Given the description of an element on the screen output the (x, y) to click on. 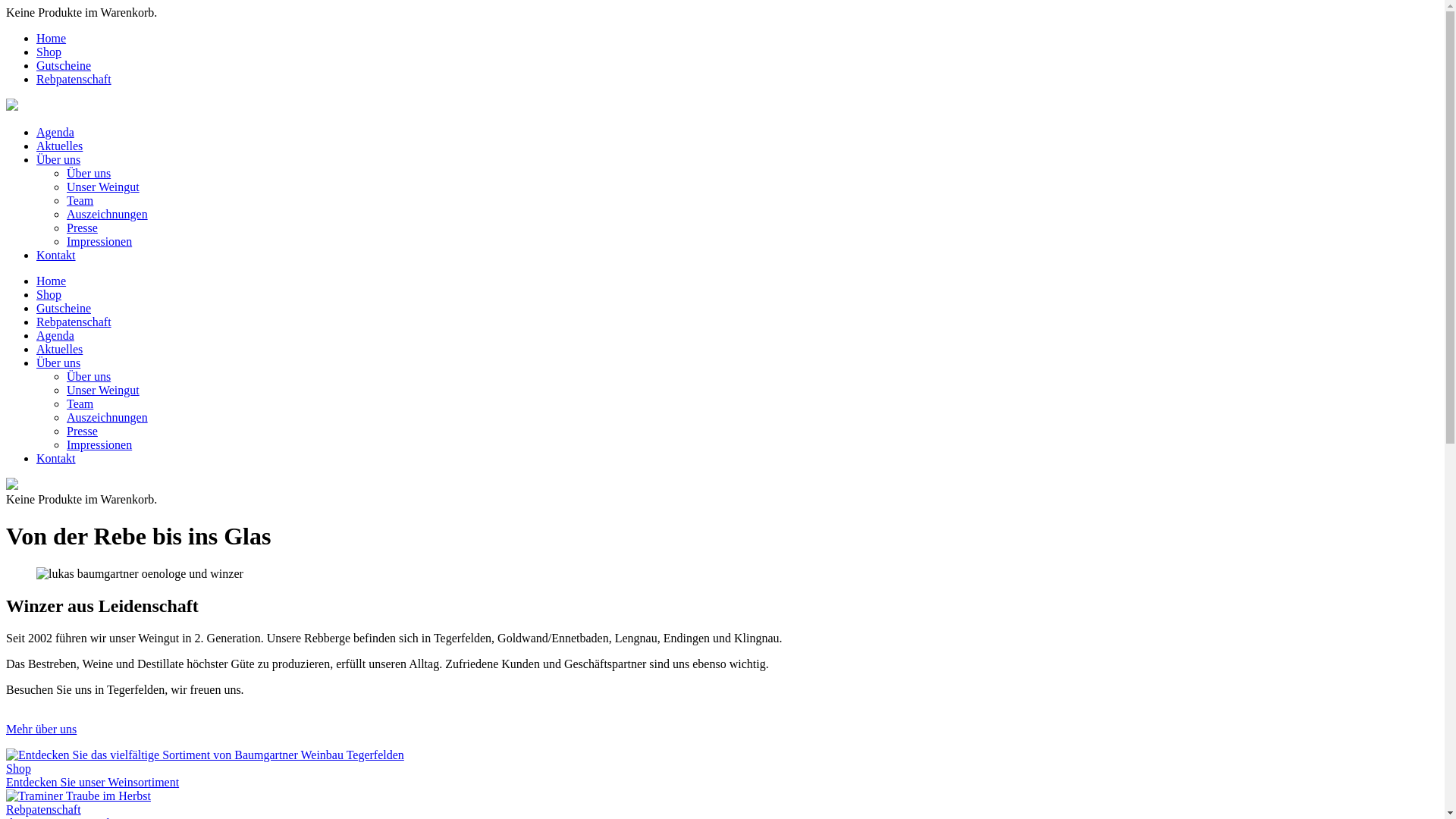
Team Element type: text (79, 403)
Presse Element type: text (81, 227)
Aktuelles Element type: text (59, 145)
Shop Element type: text (48, 294)
Gutscheine Element type: text (63, 307)
Agenda Element type: text (55, 131)
Auszeichnungen Element type: text (106, 213)
Auszeichnungen Element type: text (106, 417)
Rebpatenschaft Element type: text (73, 78)
Impressionen Element type: text (98, 241)
Gutscheine Element type: text (63, 65)
Shop
Entdecken Sie unser Weinsortiment Element type: text (722, 768)
Kontakt Element type: text (55, 457)
Unser Weingut Element type: text (102, 186)
Home Element type: text (50, 280)
Aktuelles Element type: text (59, 348)
Shop Element type: text (48, 51)
Kontakt Element type: text (55, 254)
Team Element type: text (79, 200)
Home Element type: text (50, 37)
Rebpatenschaft Element type: text (73, 321)
Agenda Element type: text (55, 335)
Unser Weingut Element type: text (102, 389)
Presse Element type: text (81, 430)
Impressionen Element type: text (98, 444)
